Given the description of an element on the screen output the (x, y) to click on. 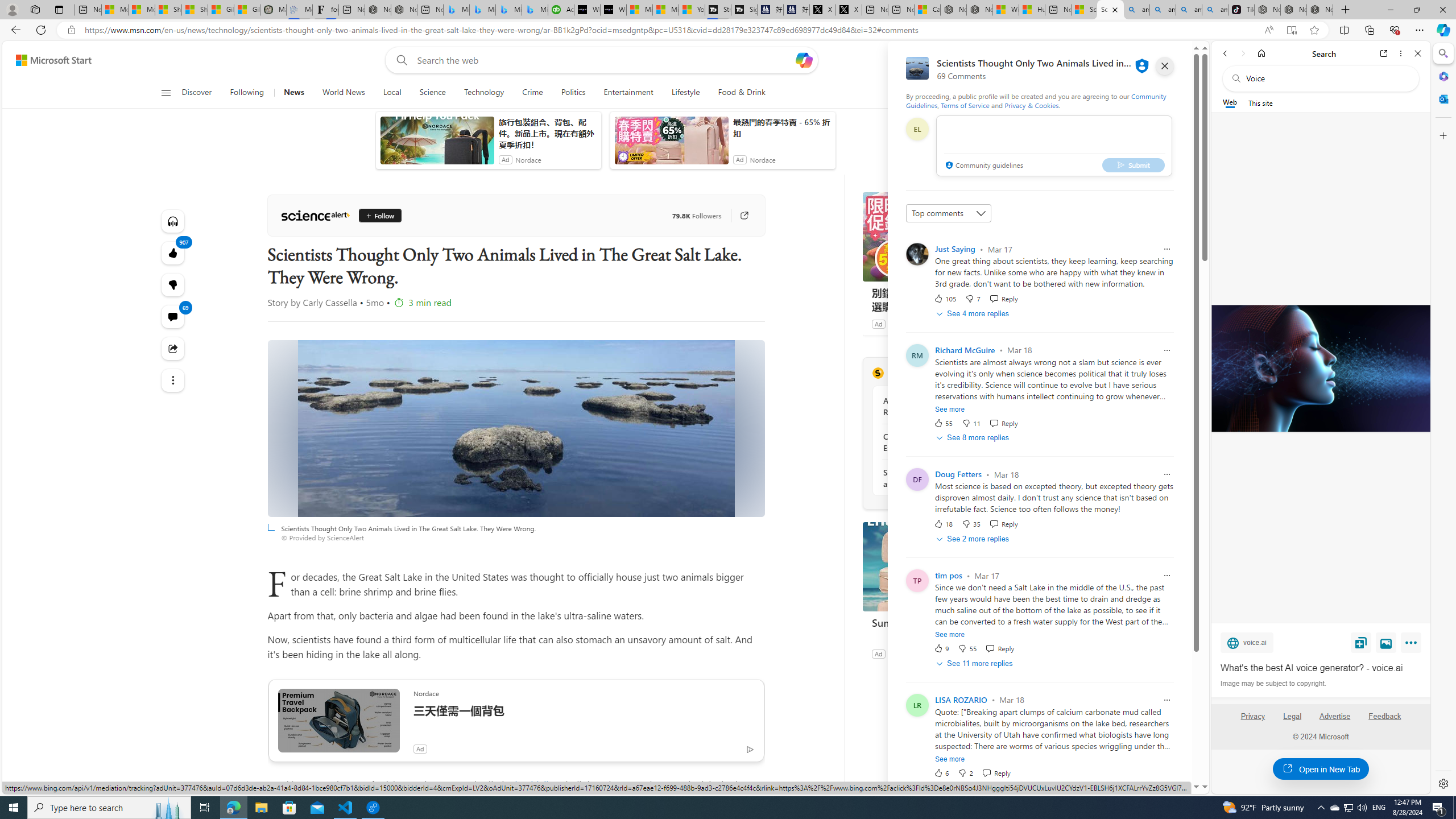
Profile Picture (916, 254)
Ad (877, 653)
Refresh (40, 29)
World News (343, 92)
Open settings (1175, 60)
Settings (1442, 783)
